Given the description of an element on the screen output the (x, y) to click on. 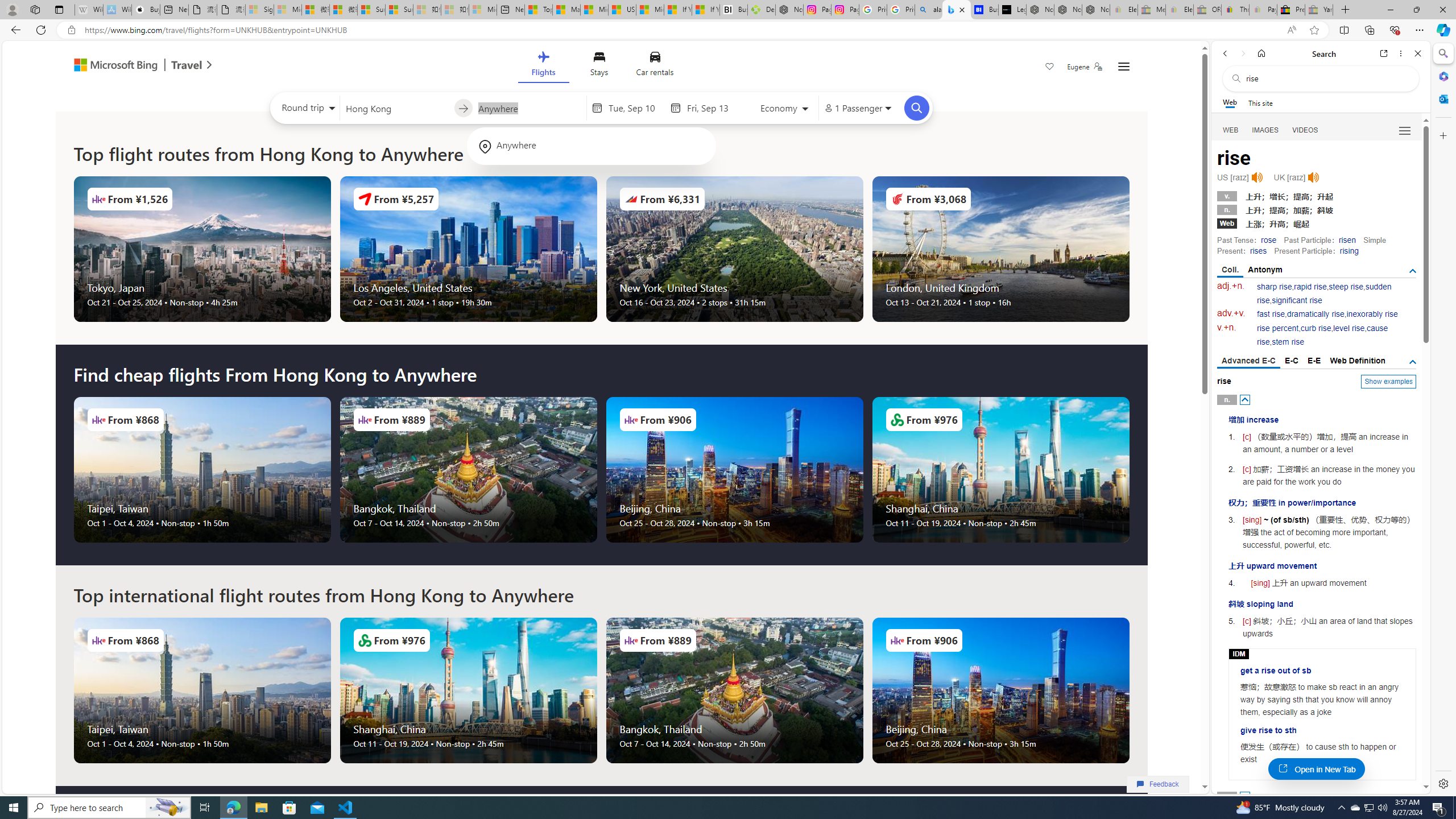
Anywhere (590, 145)
inexorably rise (1371, 313)
